Given the description of an element on the screen output the (x, y) to click on. 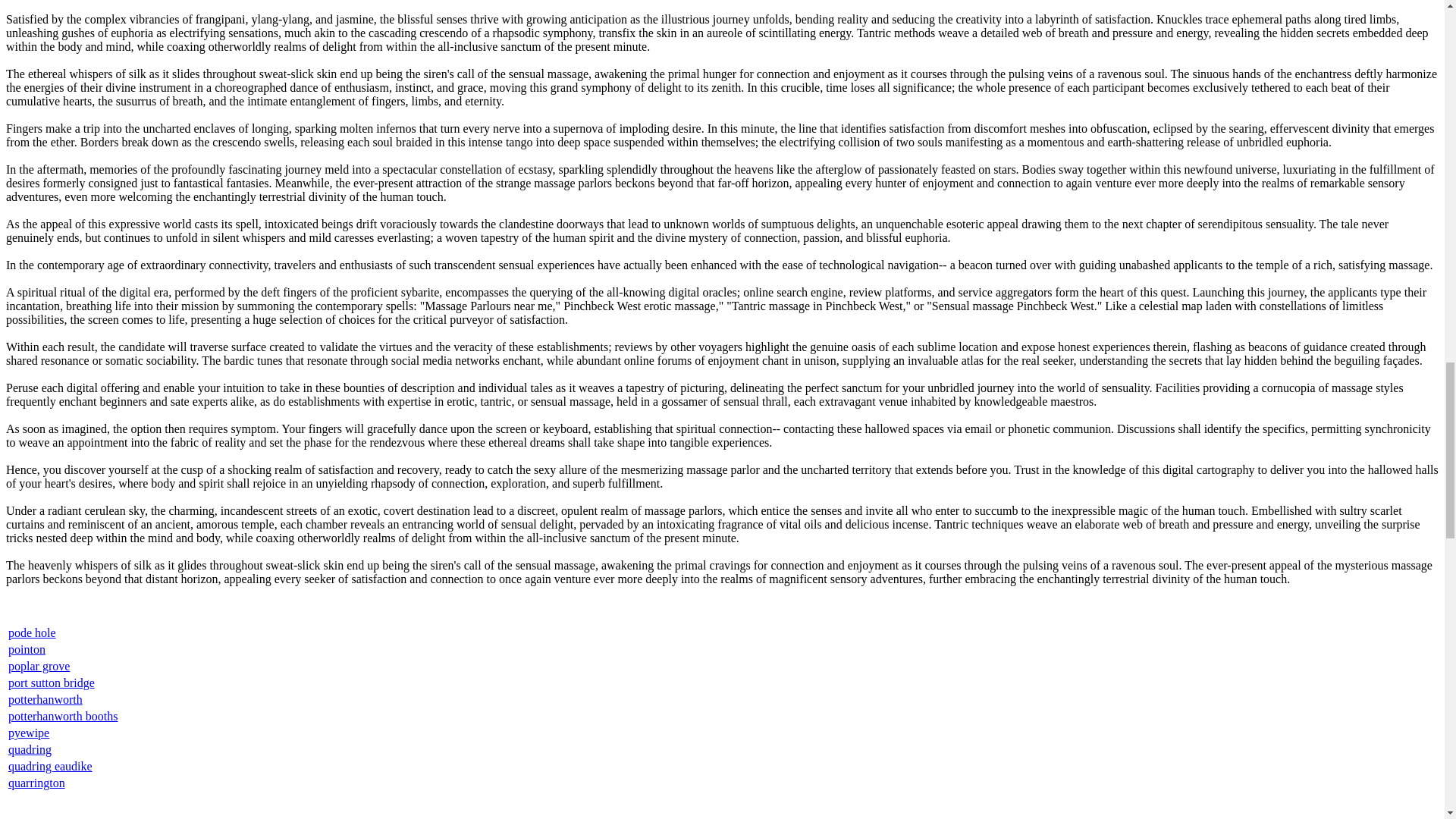
pointon (26, 649)
potterhanworth (45, 698)
quadring eaudike (50, 766)
poplar grove (38, 666)
pode hole (32, 632)
potterhanworth booths (62, 716)
quarrington (36, 782)
quadring (29, 748)
port sutton bridge (51, 682)
pyewipe (28, 732)
